Given the description of an element on the screen output the (x, y) to click on. 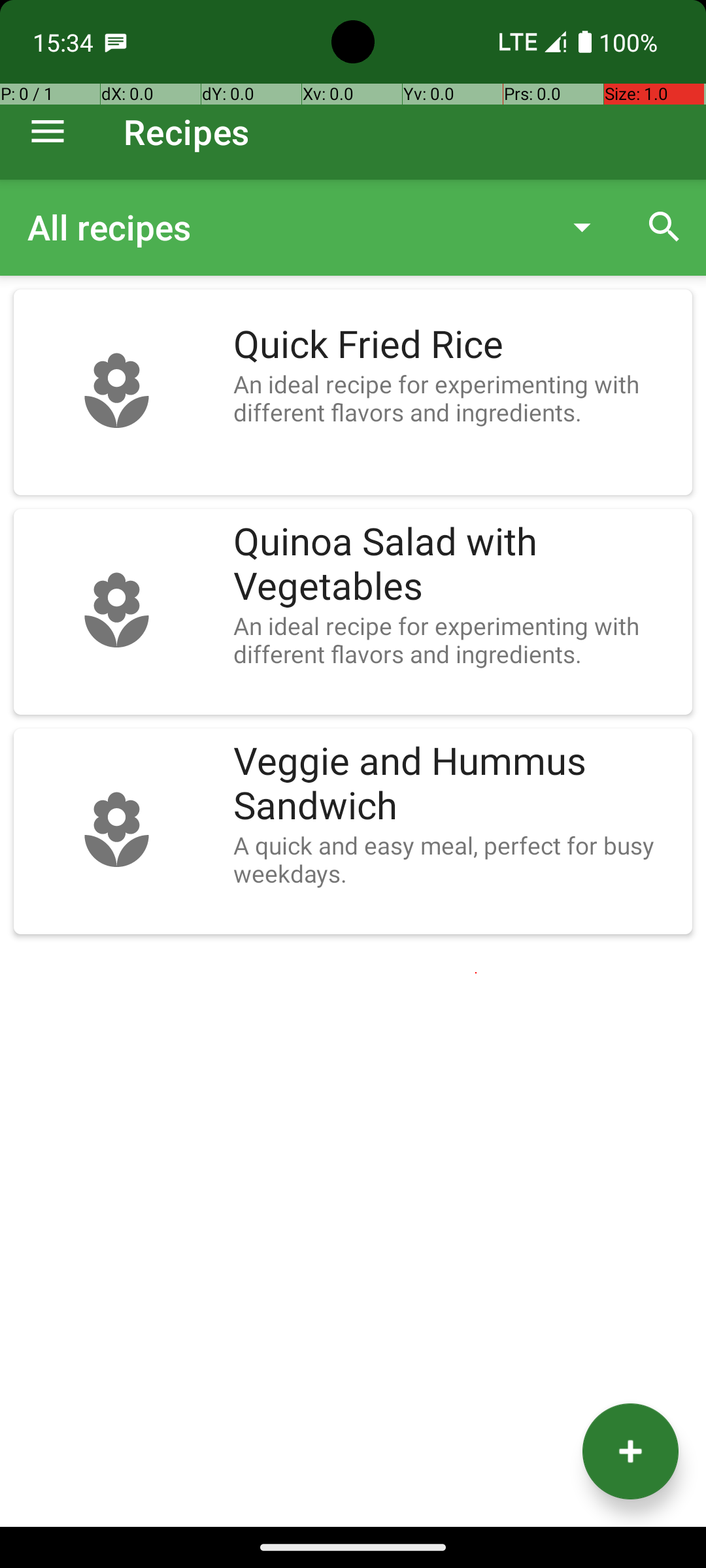
Veggie and Hummus Sandwich Element type: android.widget.TextView (455, 783)
